Given the description of an element on the screen output the (x, y) to click on. 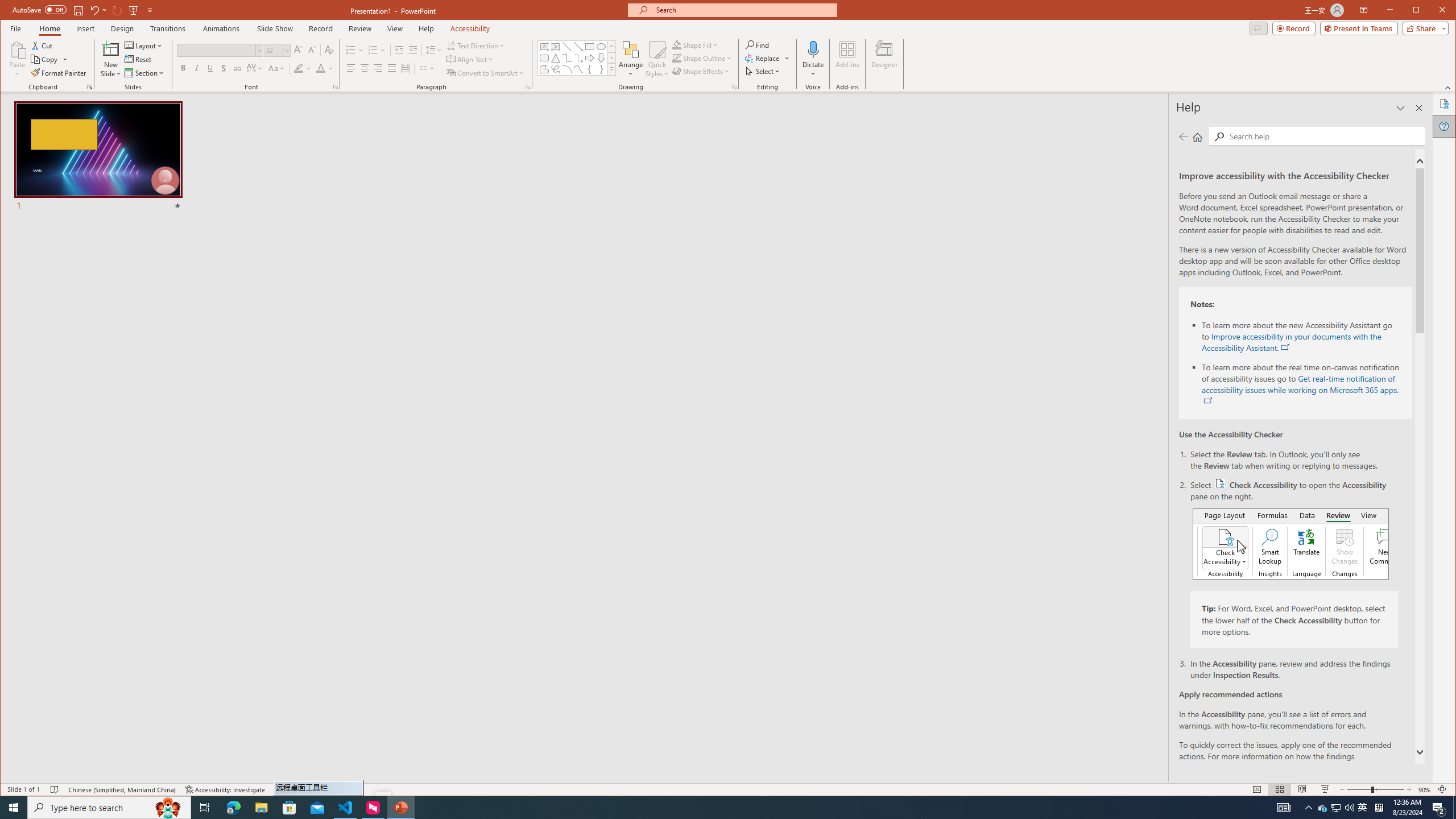
Search (1323, 135)
Microsoft Store (289, 807)
Tray Input Indicator - Chinese (Simplified, China) (1378, 807)
Decrease Indent (399, 49)
Character Spacing (254, 68)
Bold (182, 68)
openinnewwindow (1208, 401)
